Given the description of an element on the screen output the (x, y) to click on. 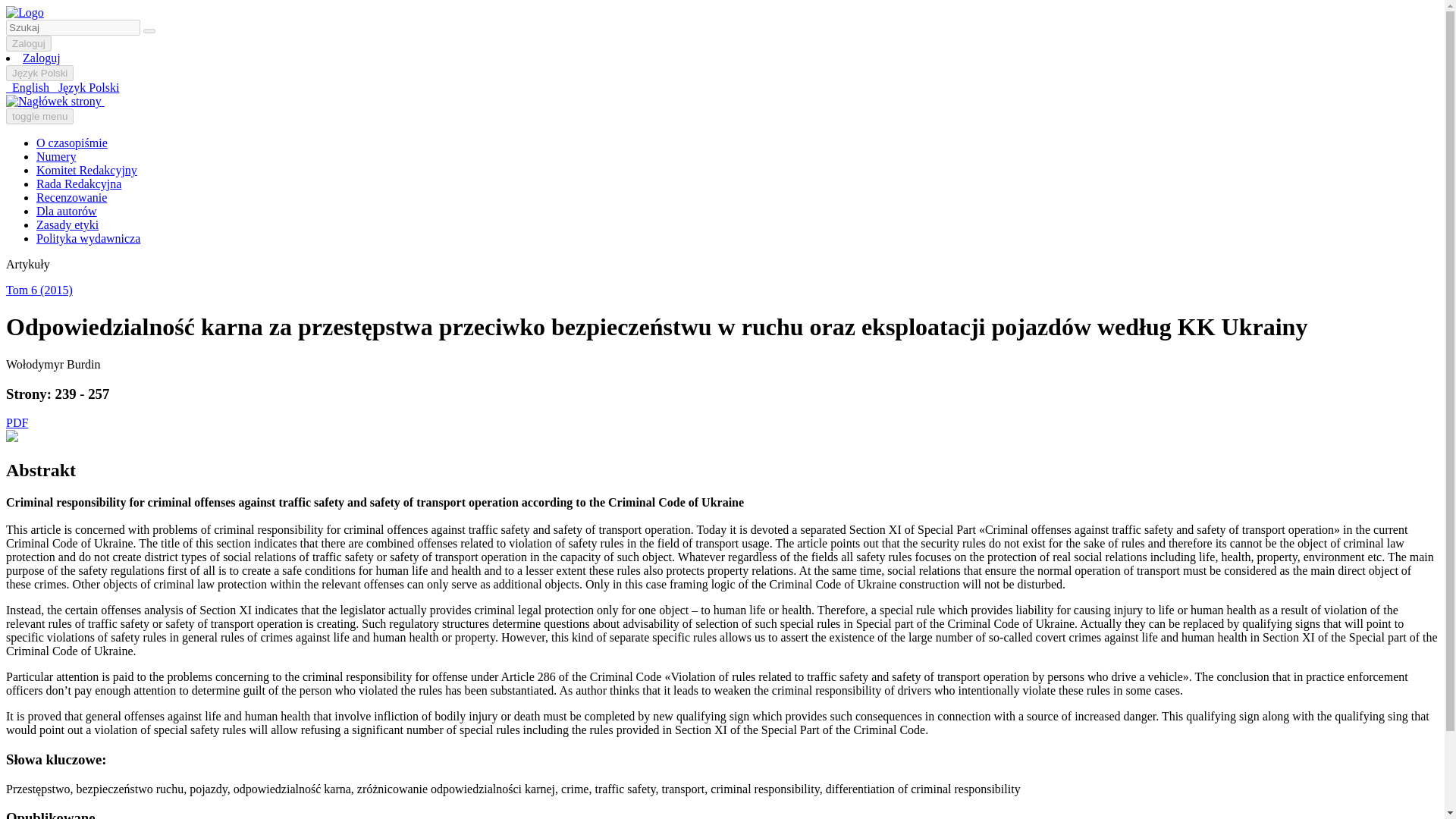
Zaloguj (42, 57)
Recenzowanie (71, 196)
Szukaj (148, 30)
Numery (55, 155)
Zaloguj (27, 43)
toggle menu (39, 116)
Zasady etyki (67, 224)
Komitet Redakcyjny (86, 169)
PDF (16, 422)
Polityka wydawnicza (87, 237)
